Given the description of an element on the screen output the (x, y) to click on. 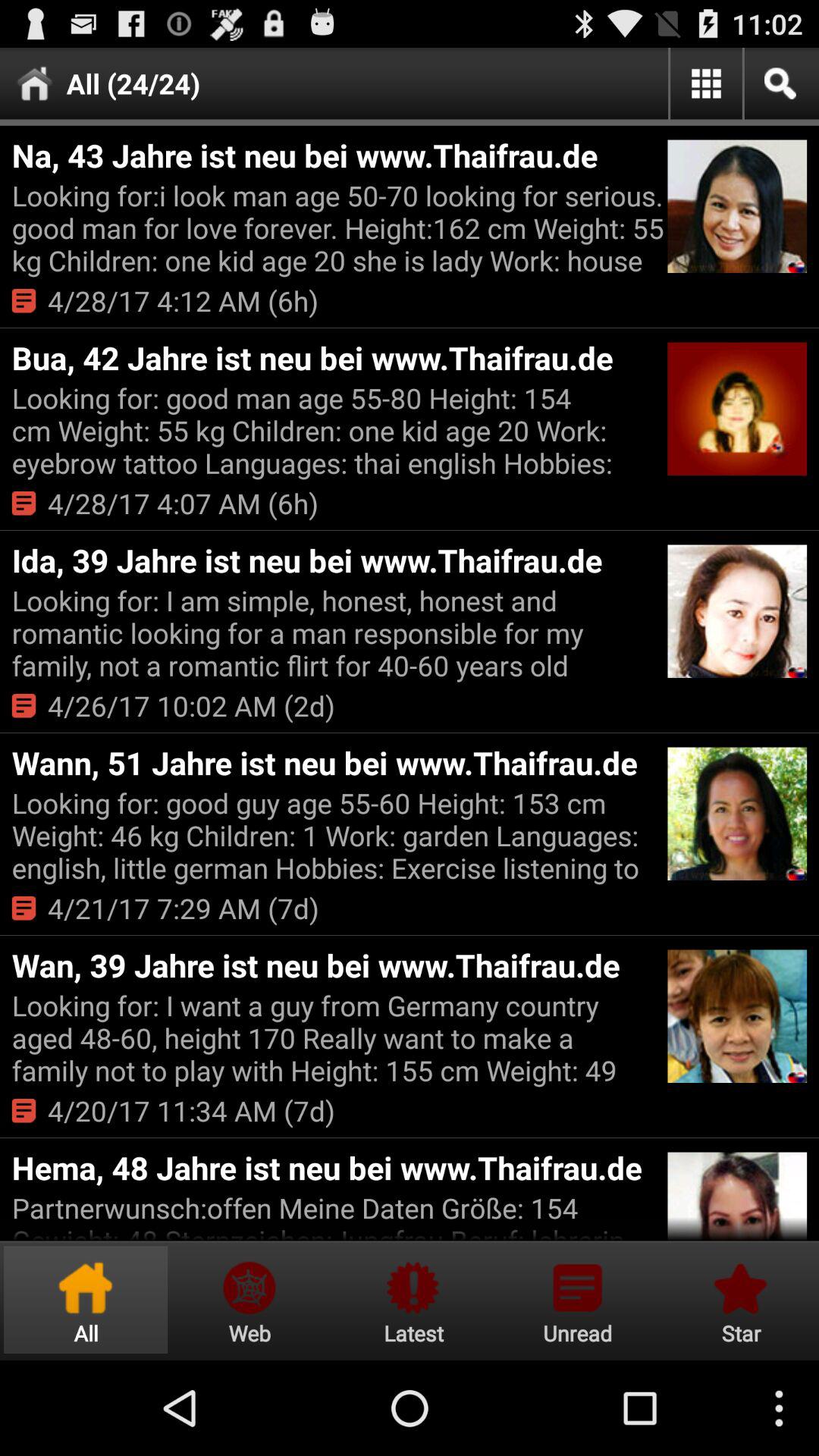
open the wann 51 jahre item (337, 762)
